Given the description of an element on the screen output the (x, y) to click on. 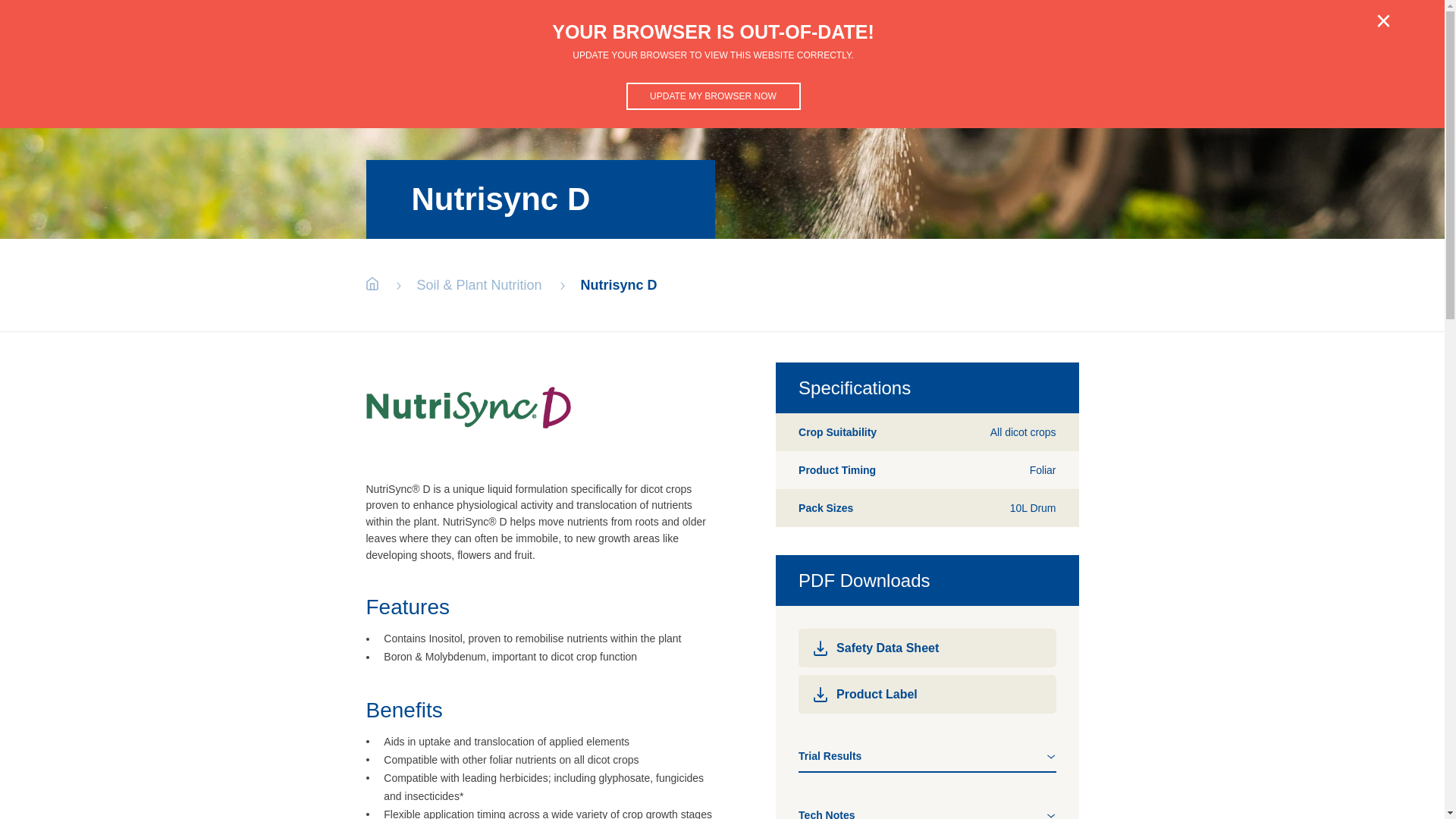
Soil & Plant Nutrition Element type: text (799, 37)
Product Label Element type: text (926, 693)
UPDATE MY BROWSER NOW Element type: text (713, 95)
Adjuvants Element type: text (1031, 37)
Crop Protection Element type: text (928, 37)
Contact Us Element type: text (1272, 37)
Search Element type: text (1334, 37)
Safety Data Sheet Element type: text (926, 647)
Soil & Plant Nutrition Element type: text (479, 284)
Nutrisync D Element type: text (618, 284)
2016 - NutriSync D - Strawberries - Stanthorpe, QLD Element type: text (926, 753)
News Element type: text (1216, 37)
Nutritional Programs Element type: text (1134, 37)
